Given the description of an element on the screen output the (x, y) to click on. 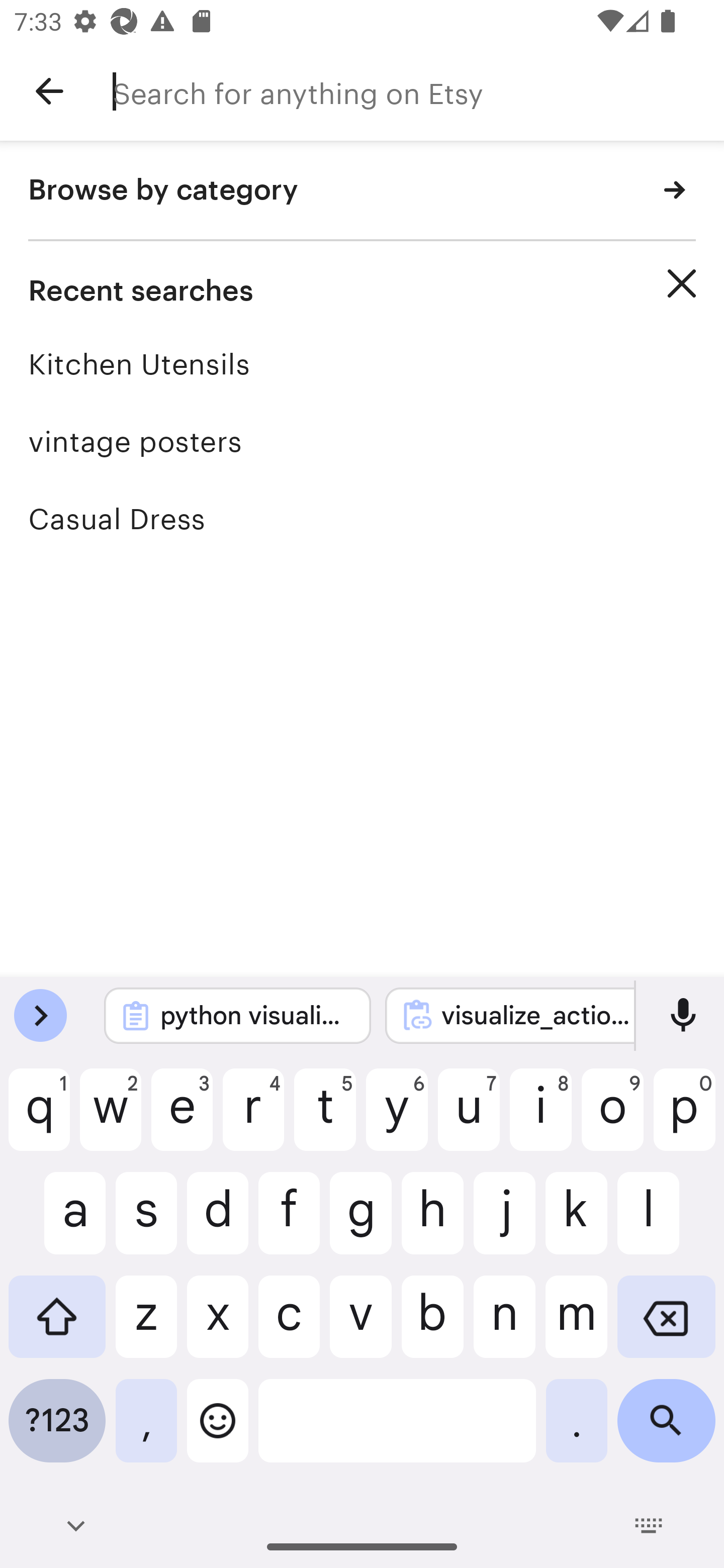
Navigate up (49, 91)
Search for anything on Etsy (418, 91)
Browse by category (362, 191)
Clear (681, 283)
Kitchen Utensils (362, 364)
vintage posters (362, 440)
Casual Dress (362, 518)
